Given the description of an element on the screen output the (x, y) to click on. 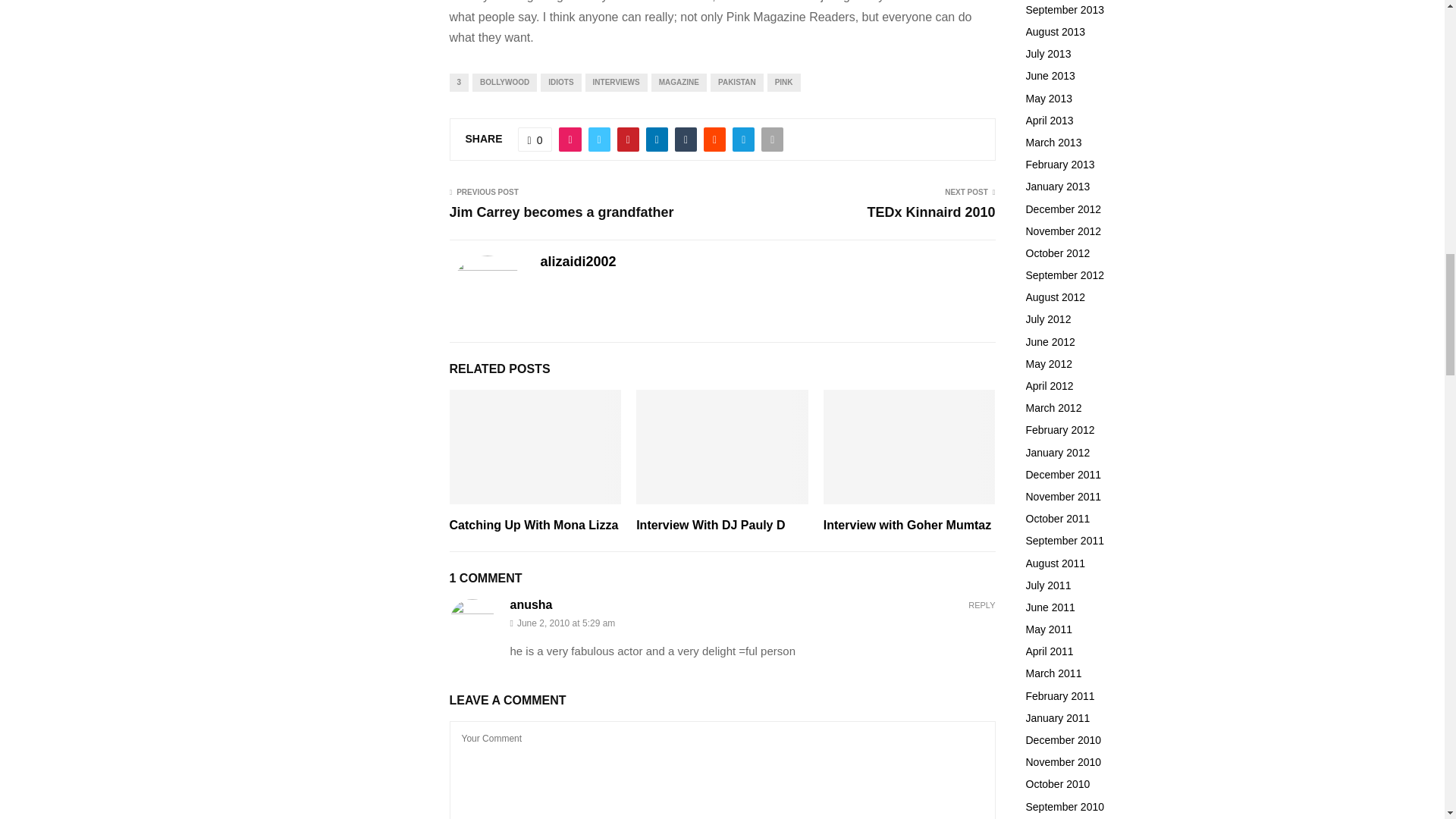
BOLLYWOOD (504, 82)
3 (458, 82)
Like (535, 139)
IDIOTS (560, 82)
